Given the description of an element on the screen output the (x, y) to click on. 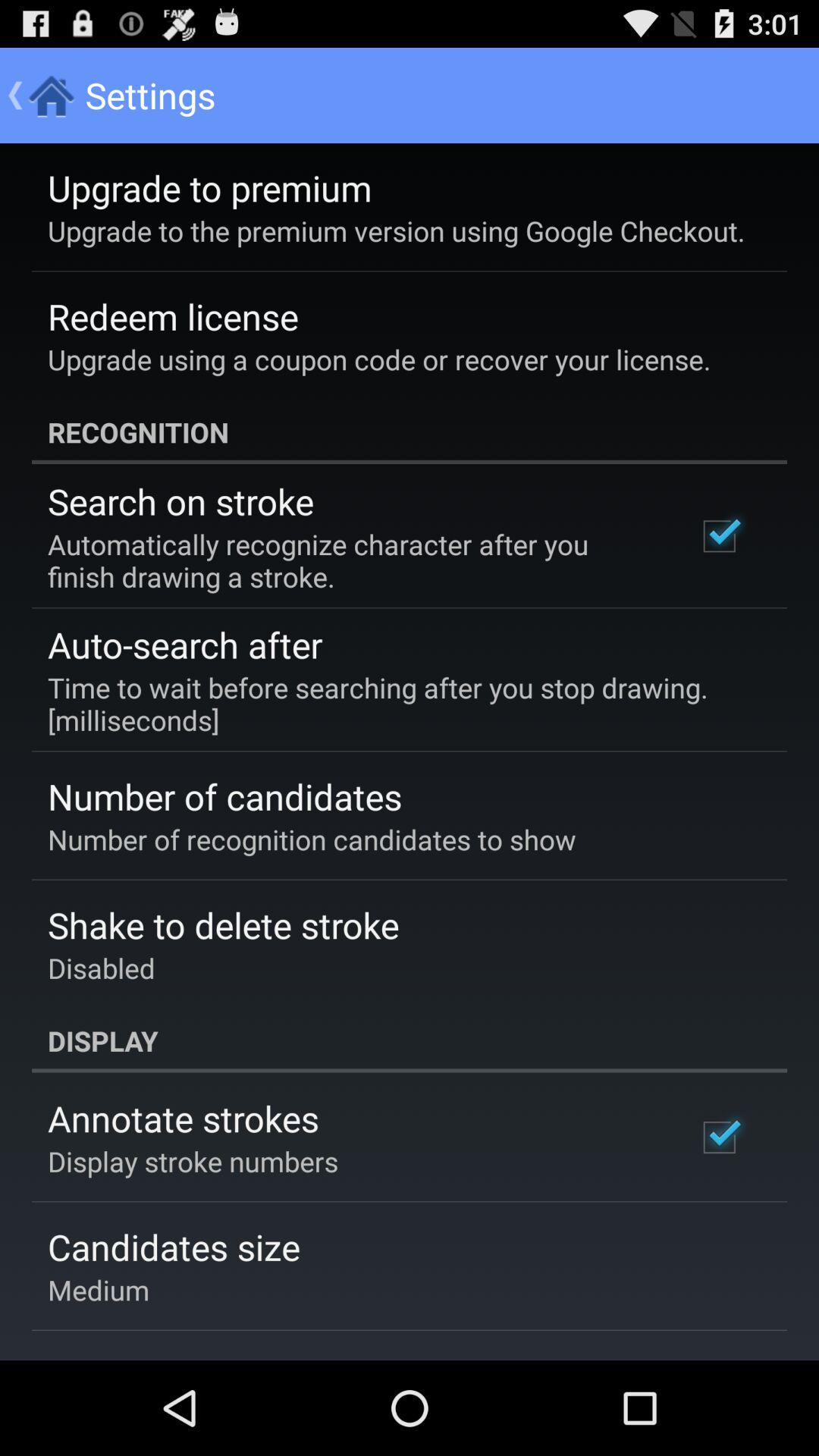
jump to the auto-search after (184, 644)
